Given the description of an element on the screen output the (x, y) to click on. 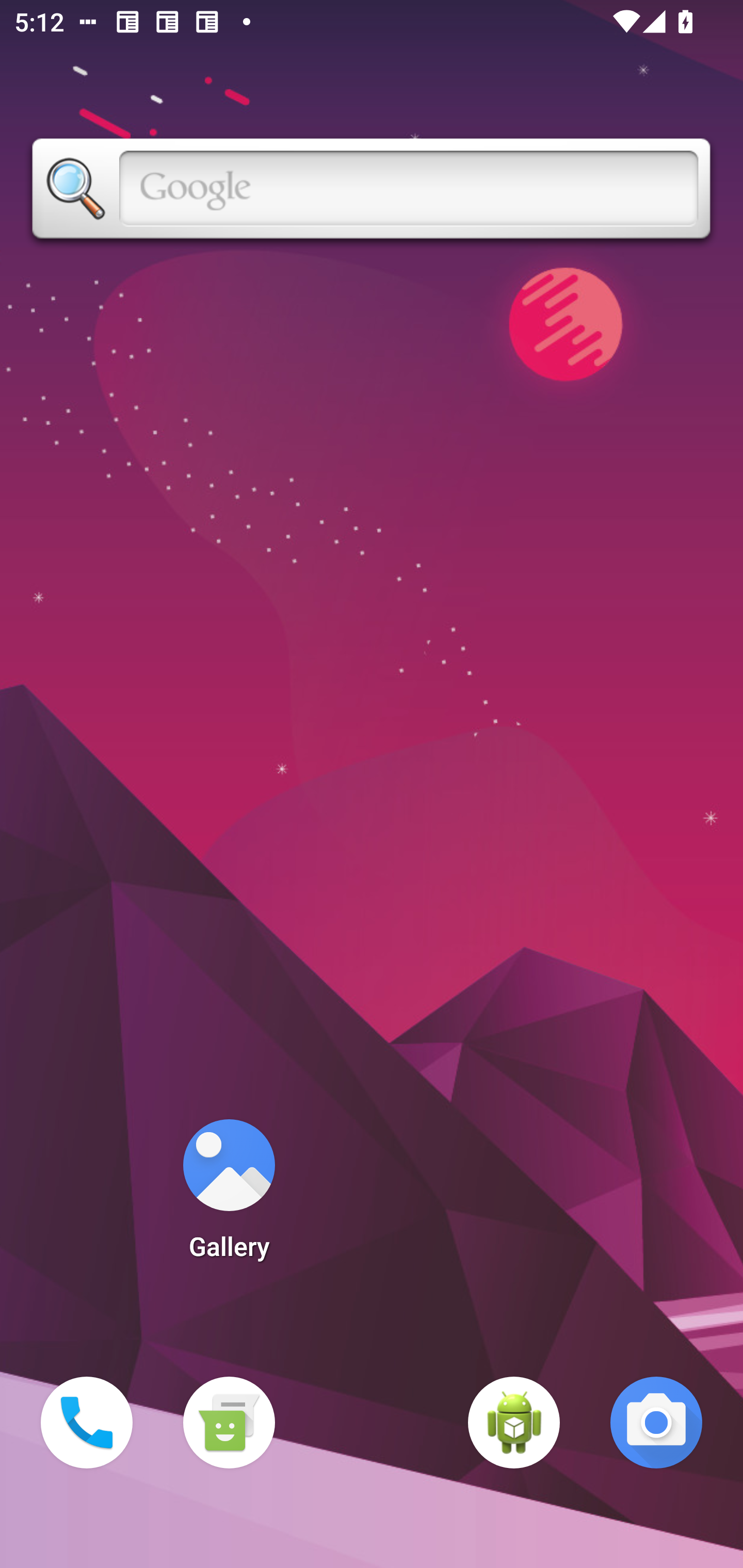
Gallery (228, 1195)
Phone (86, 1422)
Messaging (228, 1422)
WebView Browser Tester (513, 1422)
Camera (656, 1422)
